Given the description of an element on the screen output the (x, y) to click on. 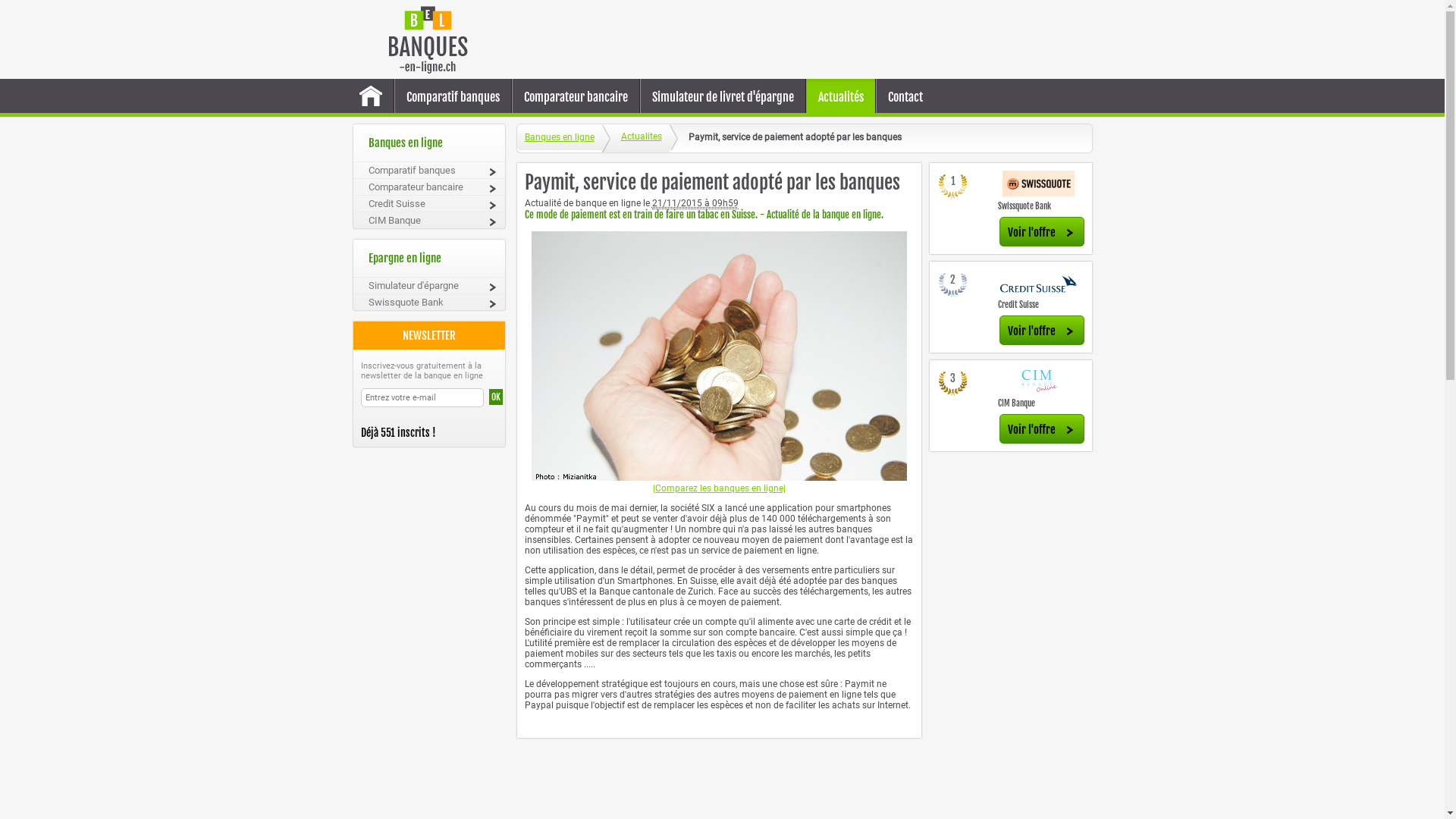
Credit Suisse Element type: text (1017, 304)
CIM Banque Element type: text (429, 220)
Voir l'offre Element type: text (1041, 330)
Accueil banque en ligne Element type: hover (370, 97)
1 Element type: text (953, 188)
|Comparez les banques en ligne| Element type: text (718, 488)
3 Element type: text (953, 385)
Swissquote Bank banque en ligne Element type: hover (1038, 184)
Contact Element type: text (905, 97)
Voir l'offre Element type: text (1041, 428)
Voir l'offre Element type: text (1041, 231)
banque en ligne Element type: hover (427, 39)
2 Element type: text (953, 286)
Comparateur bancaire Element type: text (429, 186)
Swissquote Bank Element type: text (429, 302)
Paymit-banques-en-ligne Element type: hover (718, 355)
Actualites Element type: text (635, 138)
CIM Banque banque en ligne Element type: hover (1038, 381)
OK Element type: text (495, 396)
Comparatif banques Element type: text (429, 170)
Credit Suisse Element type: text (429, 203)
Comparatif banques Element type: text (452, 97)
Credit Suisse banque en ligne Element type: hover (1038, 283)
Comparateur bancaire Element type: text (575, 97)
CIM Banque Element type: text (1016, 403)
Banques en ligne Element type: text (559, 136)
Advertisement Element type: hover (784, 39)
Swissquote Bank Element type: text (1024, 205)
